Given the description of an element on the screen output the (x, y) to click on. 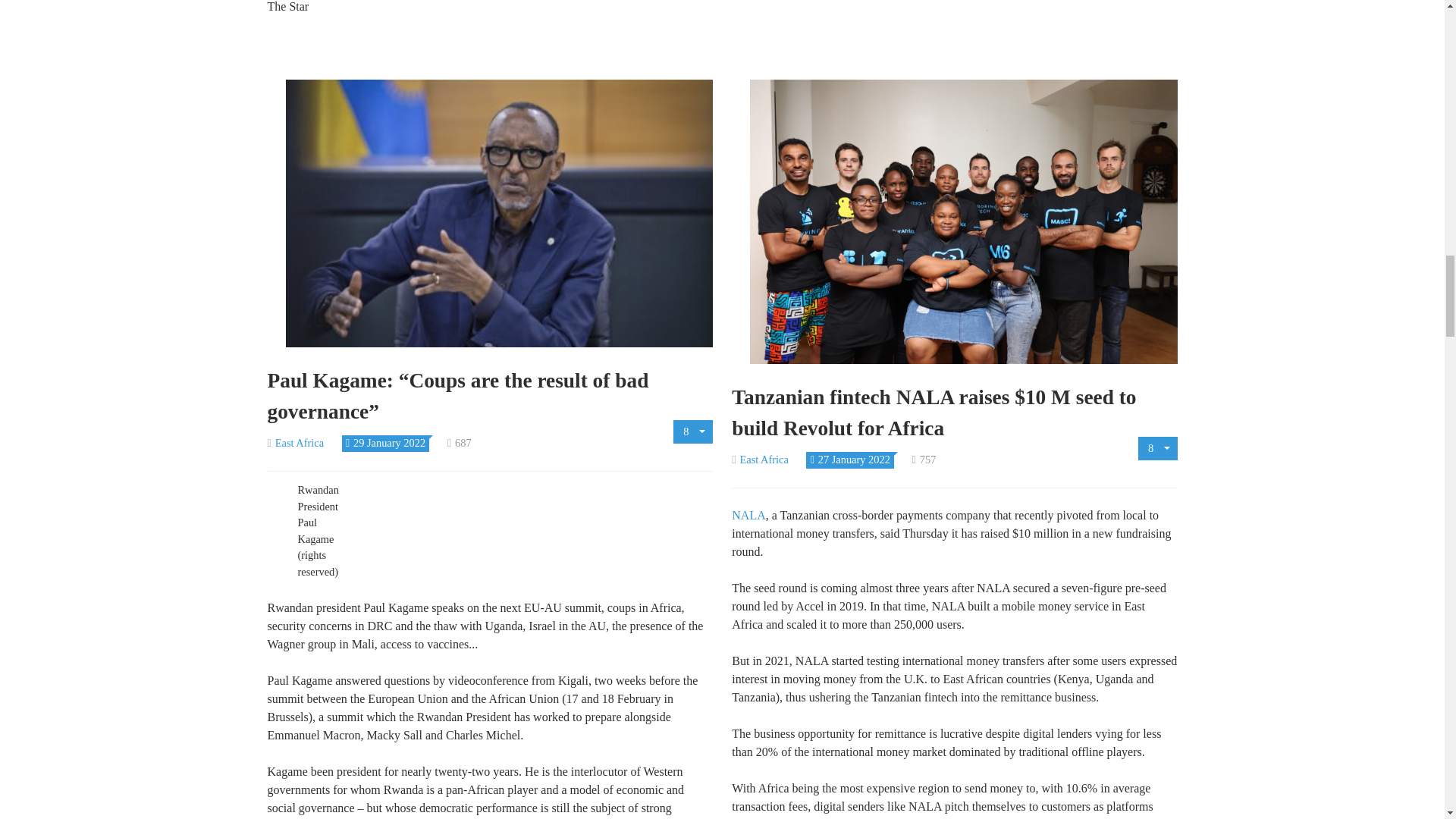
Article Category (294, 442)
Article Category (760, 459)
Hits:  (458, 442)
Hits:  (923, 459)
Published Date (849, 459)
Published Date (385, 442)
